Given the description of an element on the screen output the (x, y) to click on. 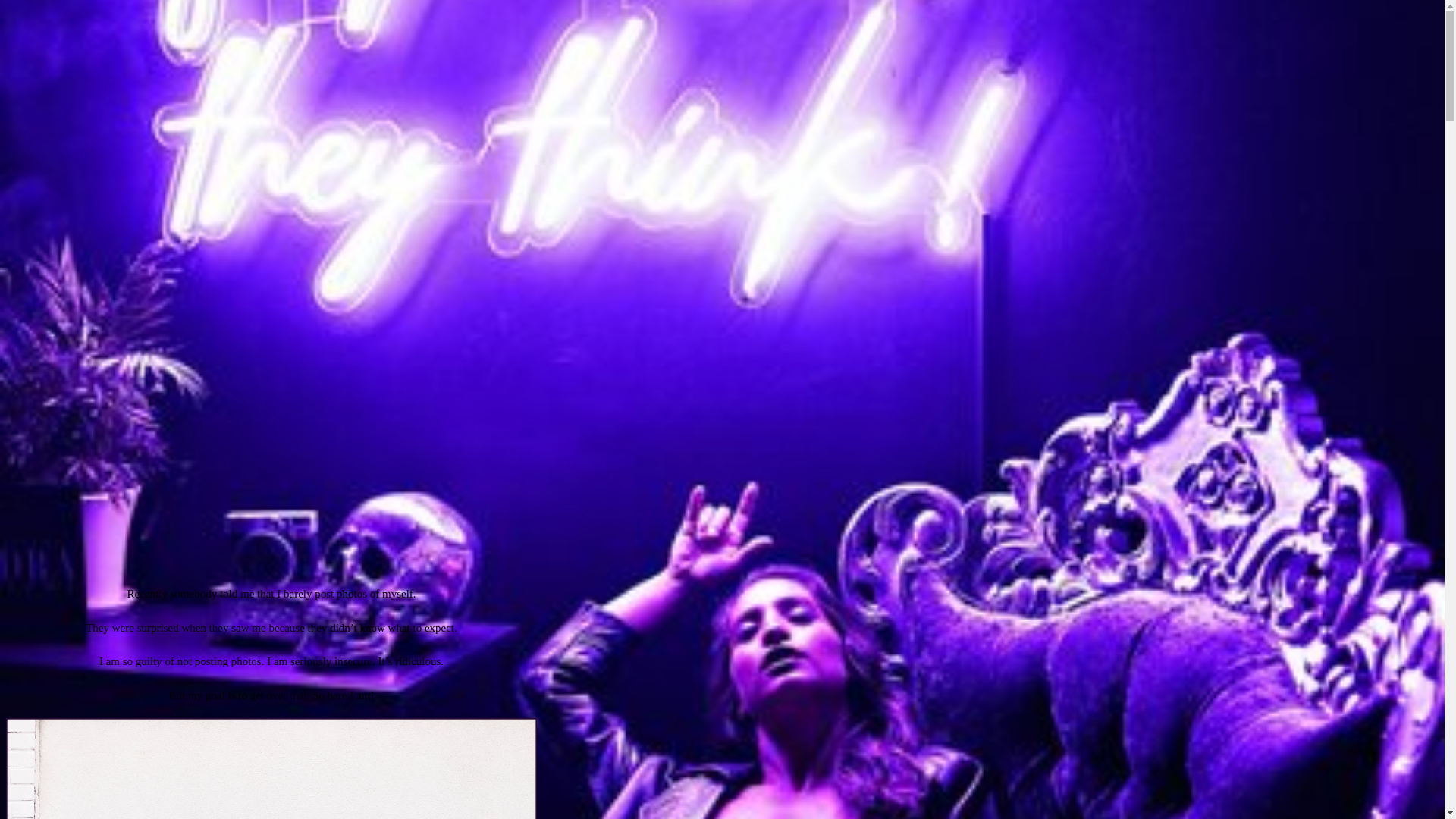
BOOK YOUR BOUDOIR SESSION (460, 161)
SESSION INFO (460, 44)
HOME (460, 17)
COUPLES BOUDOIR (460, 71)
PERSONAL (460, 805)
ABOUT (460, 30)
BOUDOIR PORTFOLIO (460, 58)
PERSONAL (270, 295)
BLOG (460, 85)
FOR PHOTOGRAPHERS (460, 112)
CONTACT (460, 99)
